Given the description of an element on the screen output the (x, y) to click on. 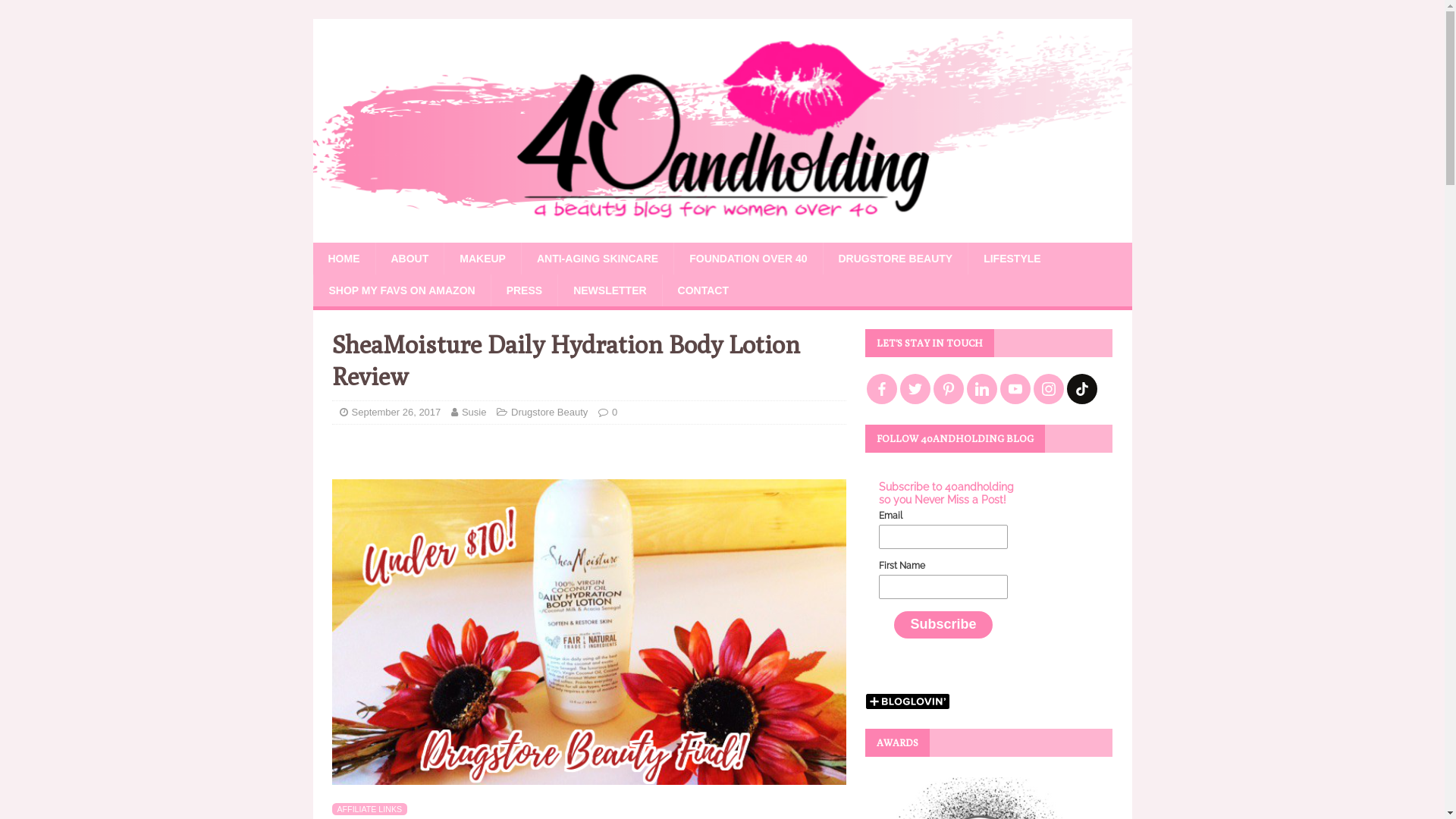
FOUNDATION OVER 40 Element type: text (747, 258)
PRESS Element type: text (523, 290)
SHOP MY FAVS ON AMAZON Element type: text (400, 290)
HOME Element type: text (343, 258)
MAKEUP Element type: text (481, 258)
ANTI-AGING SKINCARE Element type: text (596, 258)
Search Element type: text (56, 11)
September 26, 2017 Element type: text (396, 411)
0 Element type: text (614, 411)
CONTACT Element type: text (702, 290)
Follow Button Element type: hover (988, 679)
LIFESTYLE Element type: text (1011, 258)
AFFILIATE LINKS Element type: text (369, 809)
Susie Element type: text (473, 411)
Drugstore Beauty Element type: text (549, 411)
shea-moisture-body-lotion-feature Element type: hover (589, 632)
DRUGSTORE BEAUTY Element type: text (894, 258)
ABOUT Element type: text (408, 258)
NEWSLETTER Element type: text (609, 290)
40andholding Element type: hover (721, 233)
Follow Button Element type: hover (589, 447)
